Given the description of an element on the screen output the (x, y) to click on. 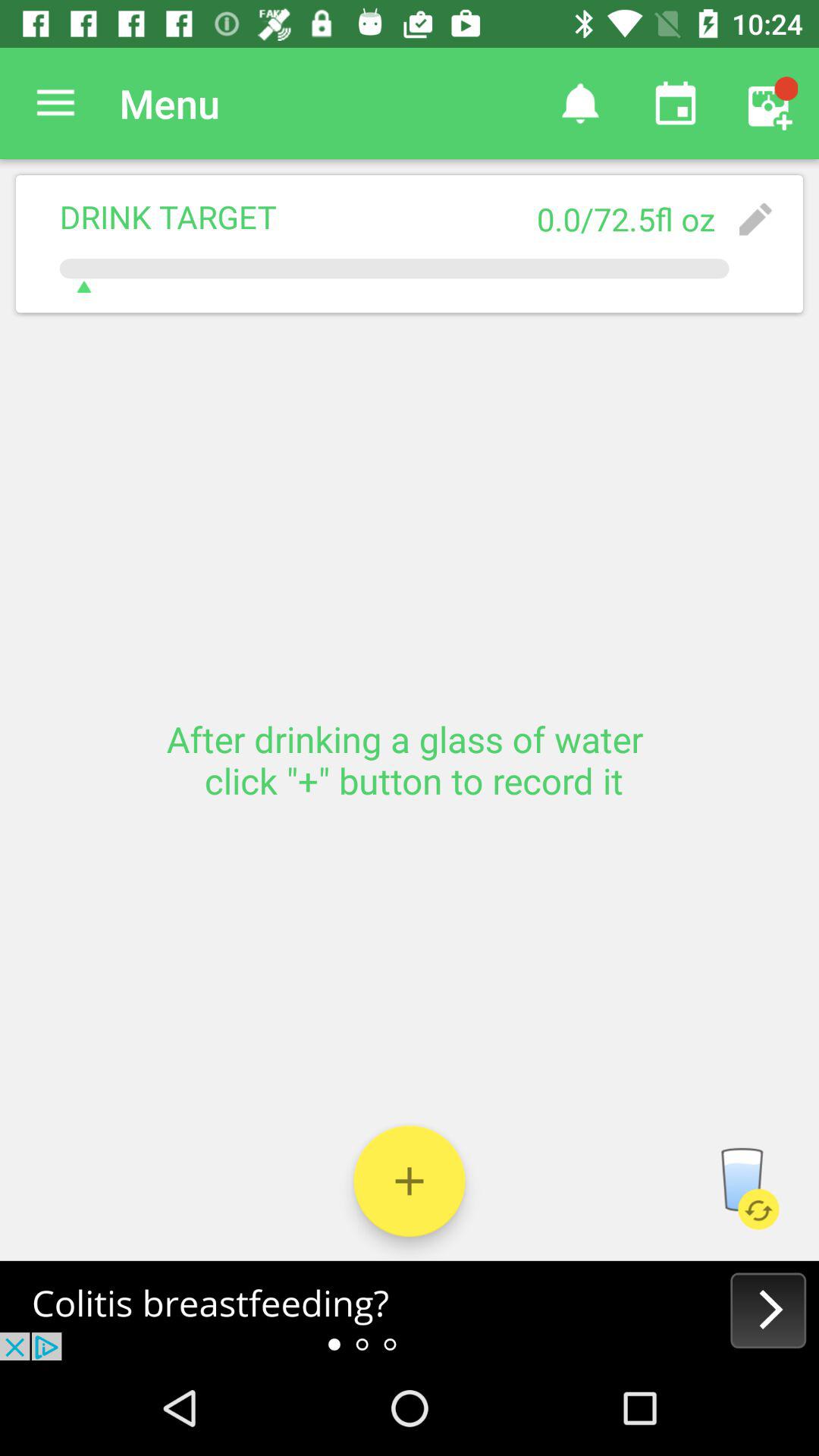
add symbol (409, 1181)
